Given the description of an element on the screen output the (x, y) to click on. 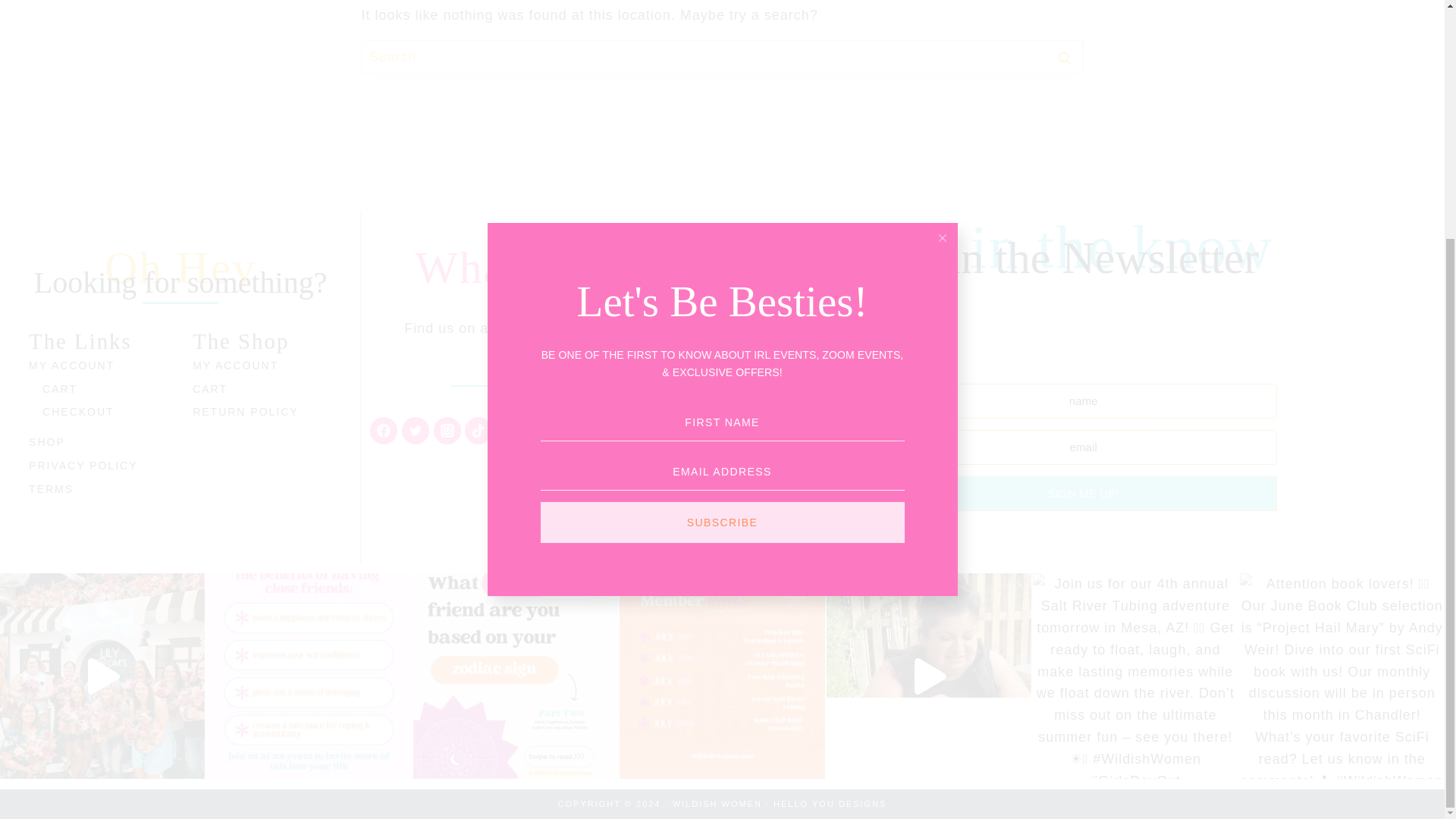
MY ACCOUNT (261, 365)
SUBSCRIBE (722, 195)
CHECKOUT (105, 413)
CART (261, 389)
PRIVACY POLICY (98, 465)
SHOP (98, 442)
MY ACCOUNT (98, 365)
Search (1064, 57)
TERMS (98, 489)
Search (1064, 57)
